Given the description of an element on the screen output the (x, y) to click on. 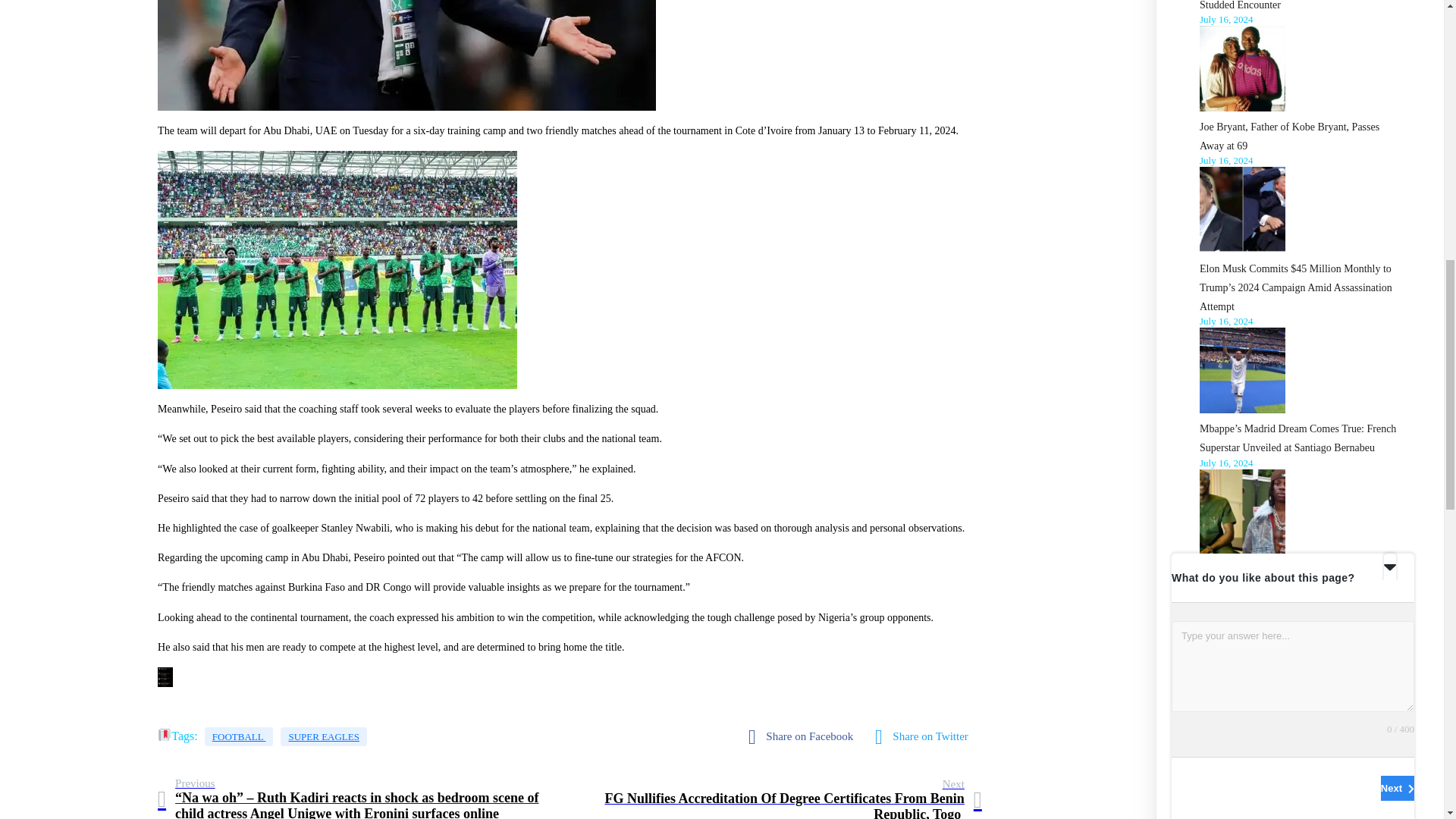
Joe Bryant, Father of Kobe Bryant, Passes Away at 69 (1288, 136)
SUPER EAGLES (323, 736)
Share on Facebook (804, 737)
FOOTBALL (239, 736)
fab fa-twitter-square (925, 737)
Share on Twitter (925, 737)
fab fa-facebook-square (804, 737)
